Given the description of an element on the screen output the (x, y) to click on. 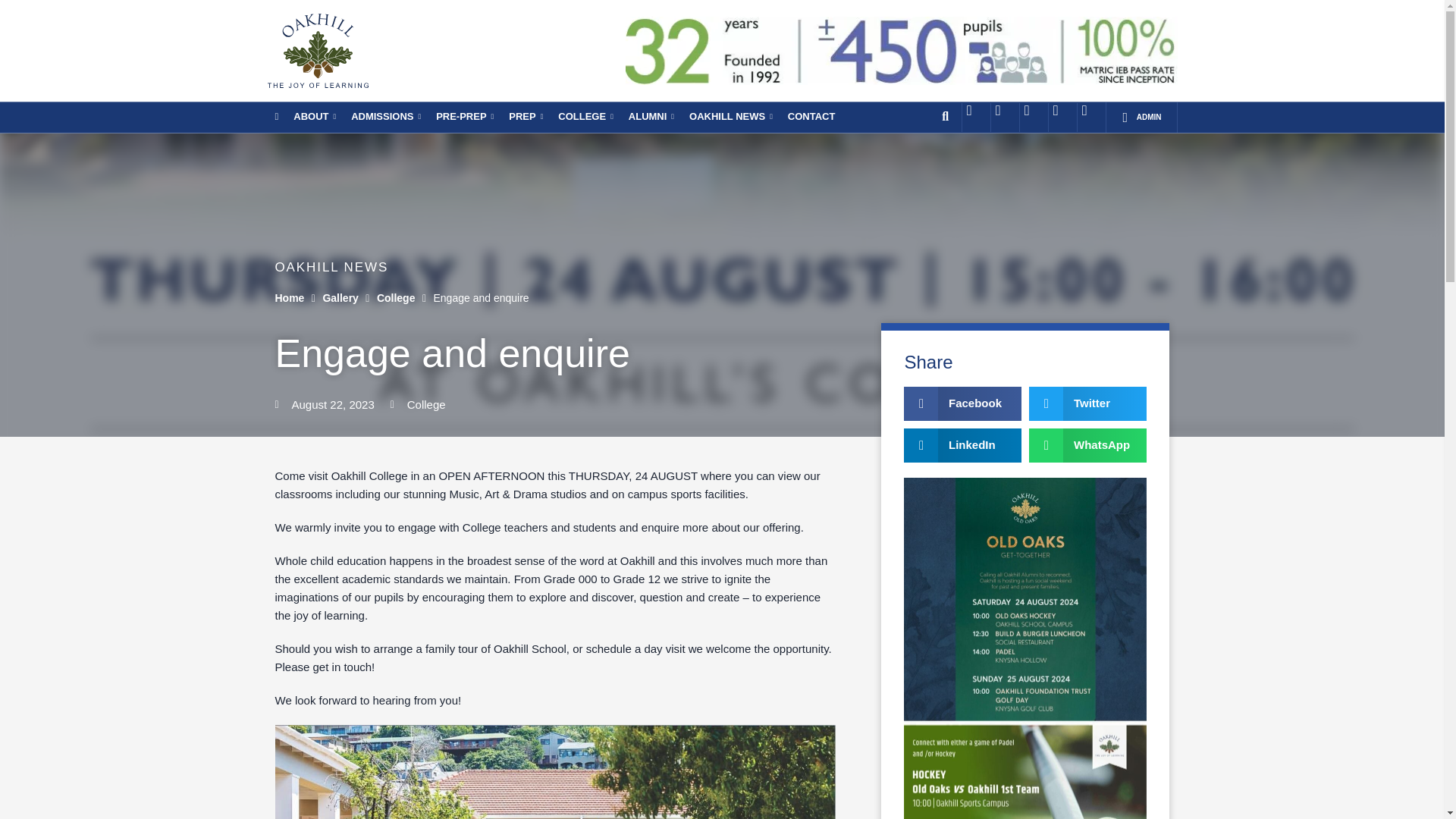
Gallery (339, 298)
PRE-PREP (464, 116)
College (395, 298)
PREP (525, 116)
ABOUT (314, 116)
ADMISSIONS (385, 116)
Home (289, 298)
COLLEGE (585, 116)
